Given the description of an element on the screen output the (x, y) to click on. 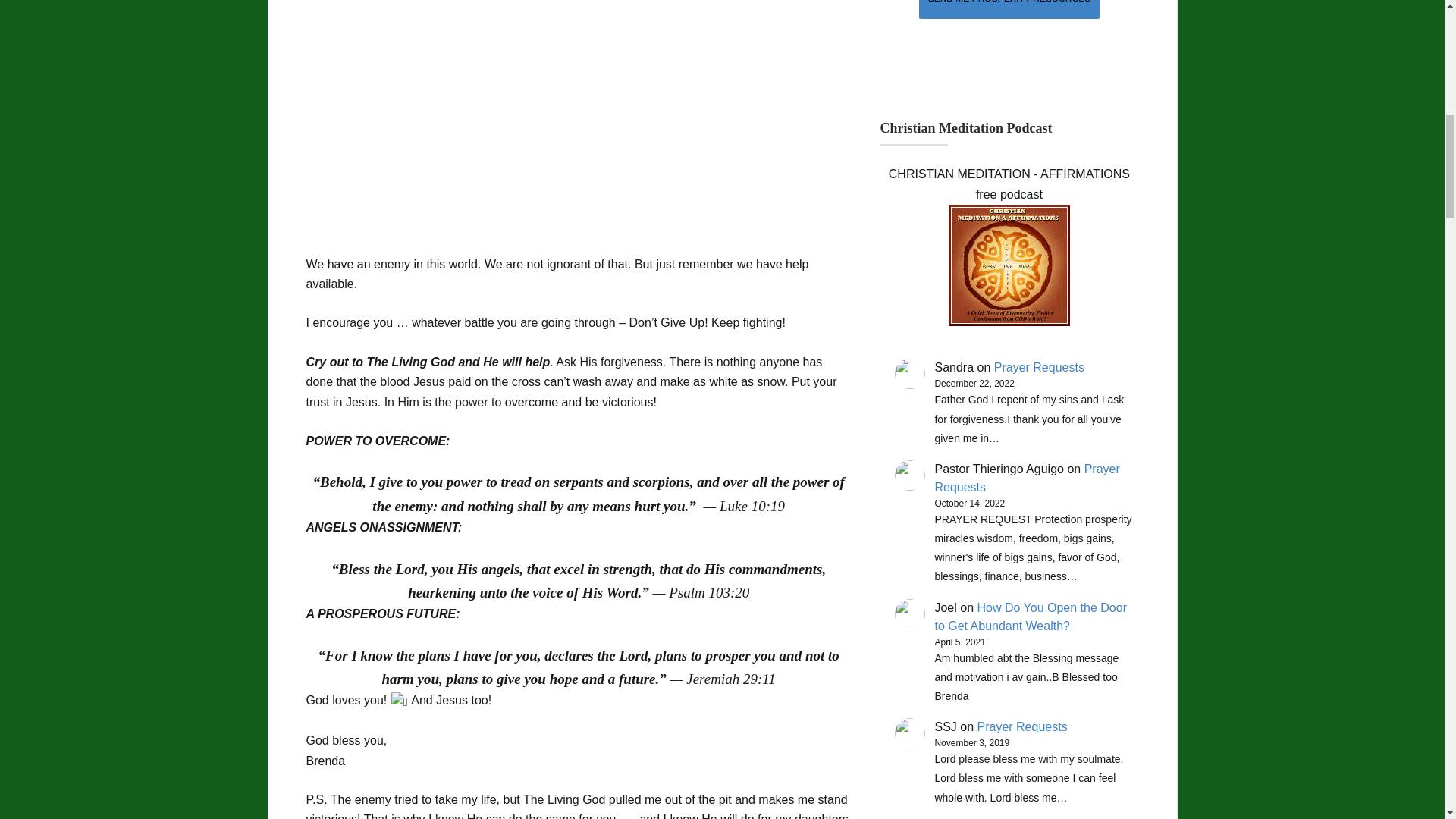
Send Me Prosperity Resources (1009, 9)
